Given the description of an element on the screen output the (x, y) to click on. 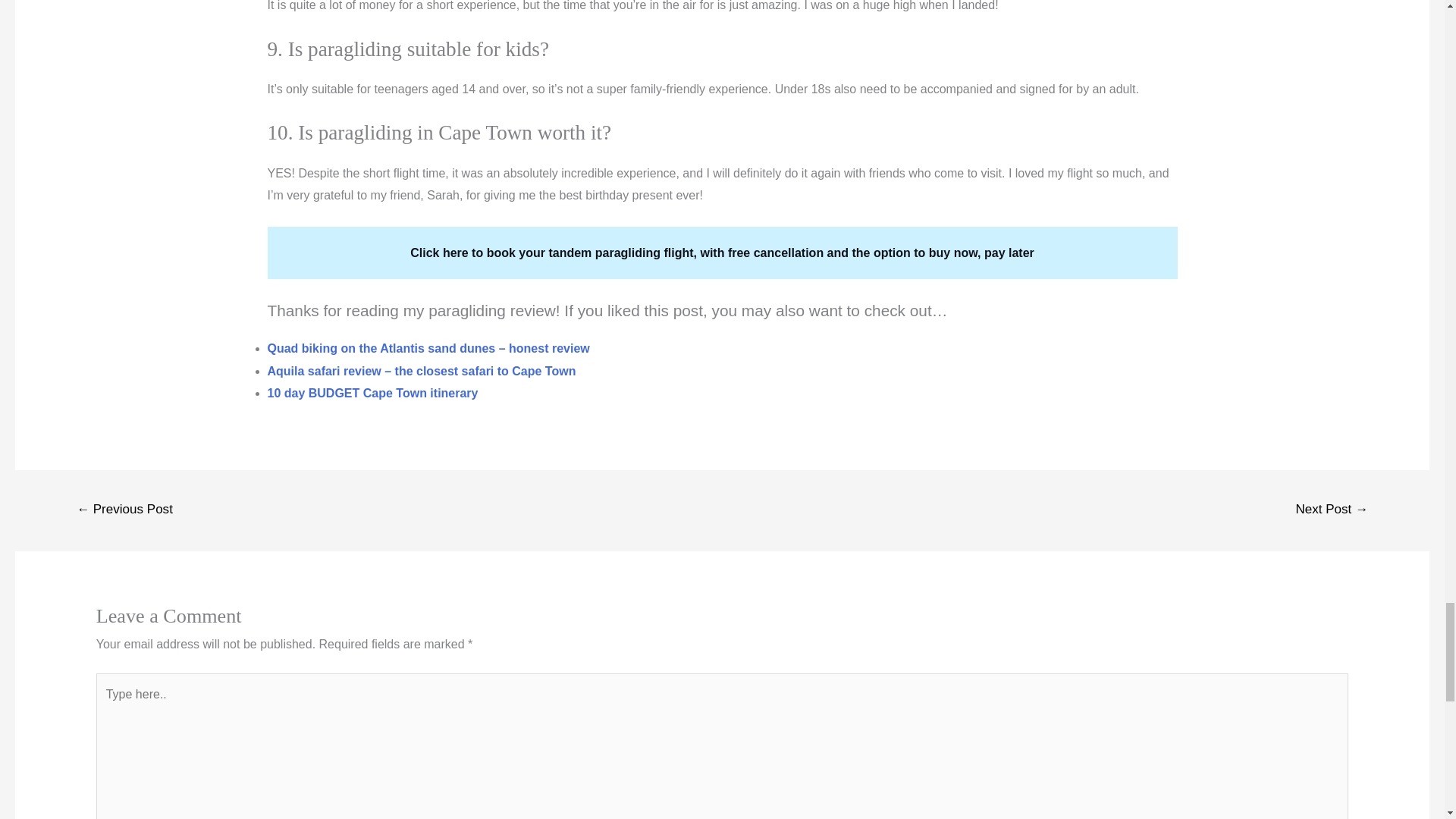
10 Day BUDGET Cape Town Itinerary (371, 392)
Quad Biking on the Atlantis Dunes: HONEST Review (427, 348)
10 day BUDGET Cape Town itinerary (371, 392)
